Given the description of an element on the screen output the (x, y) to click on. 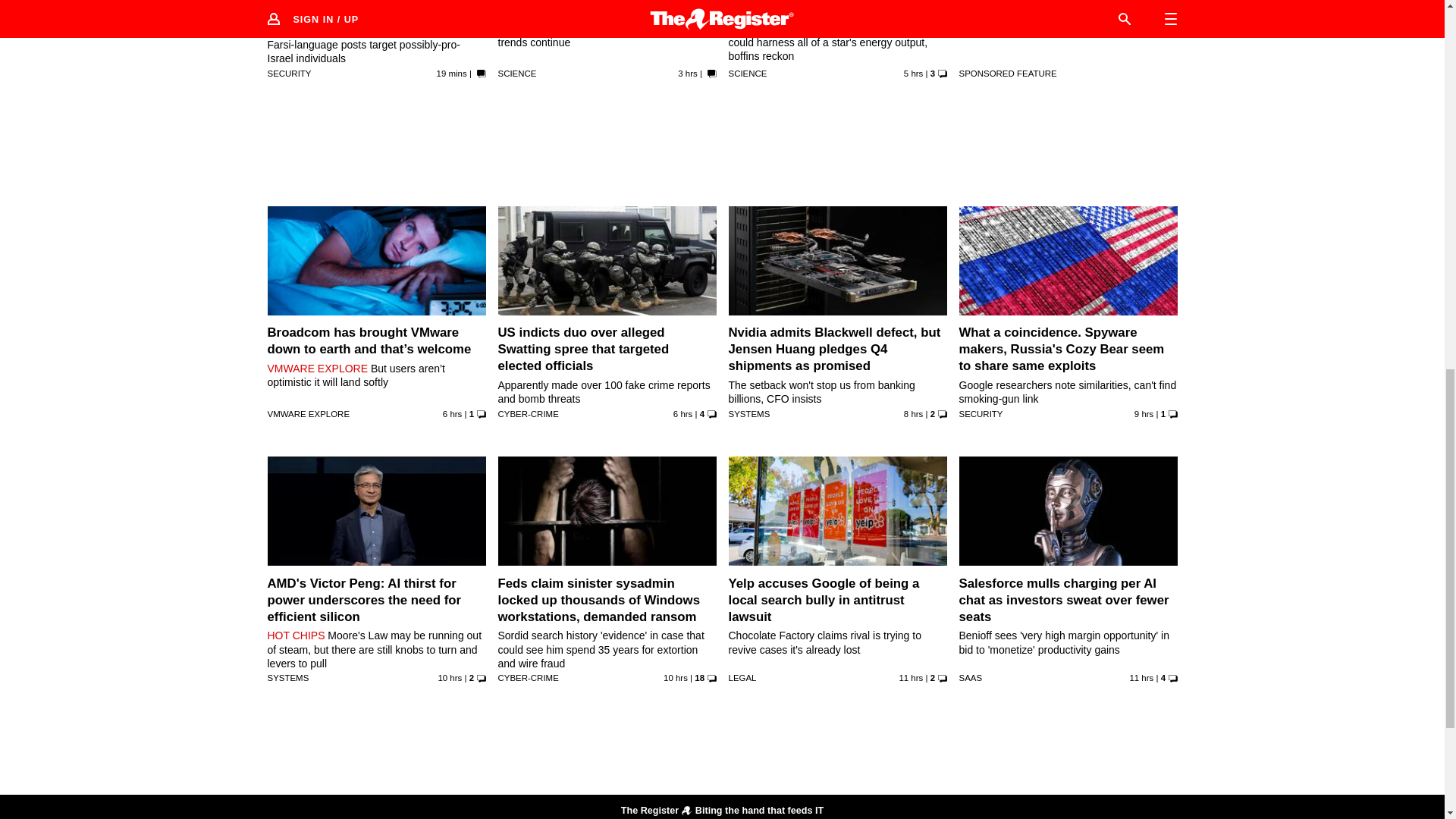
29 Aug 2024 19:15 (449, 677)
29 Aug 2024 23:59 (913, 72)
29 Aug 2024 23:15 (452, 413)
29 Aug 2024 20:45 (913, 413)
30 Aug 2024 4:27 (451, 72)
30 Aug 2024 2:15 (687, 72)
29 Aug 2024 18:30 (675, 677)
29 Aug 2024 20:3 (1144, 413)
29 Aug 2024 17:33 (1141, 677)
29 Aug 2024 18:0 (910, 677)
